Given the description of an element on the screen output the (x, y) to click on. 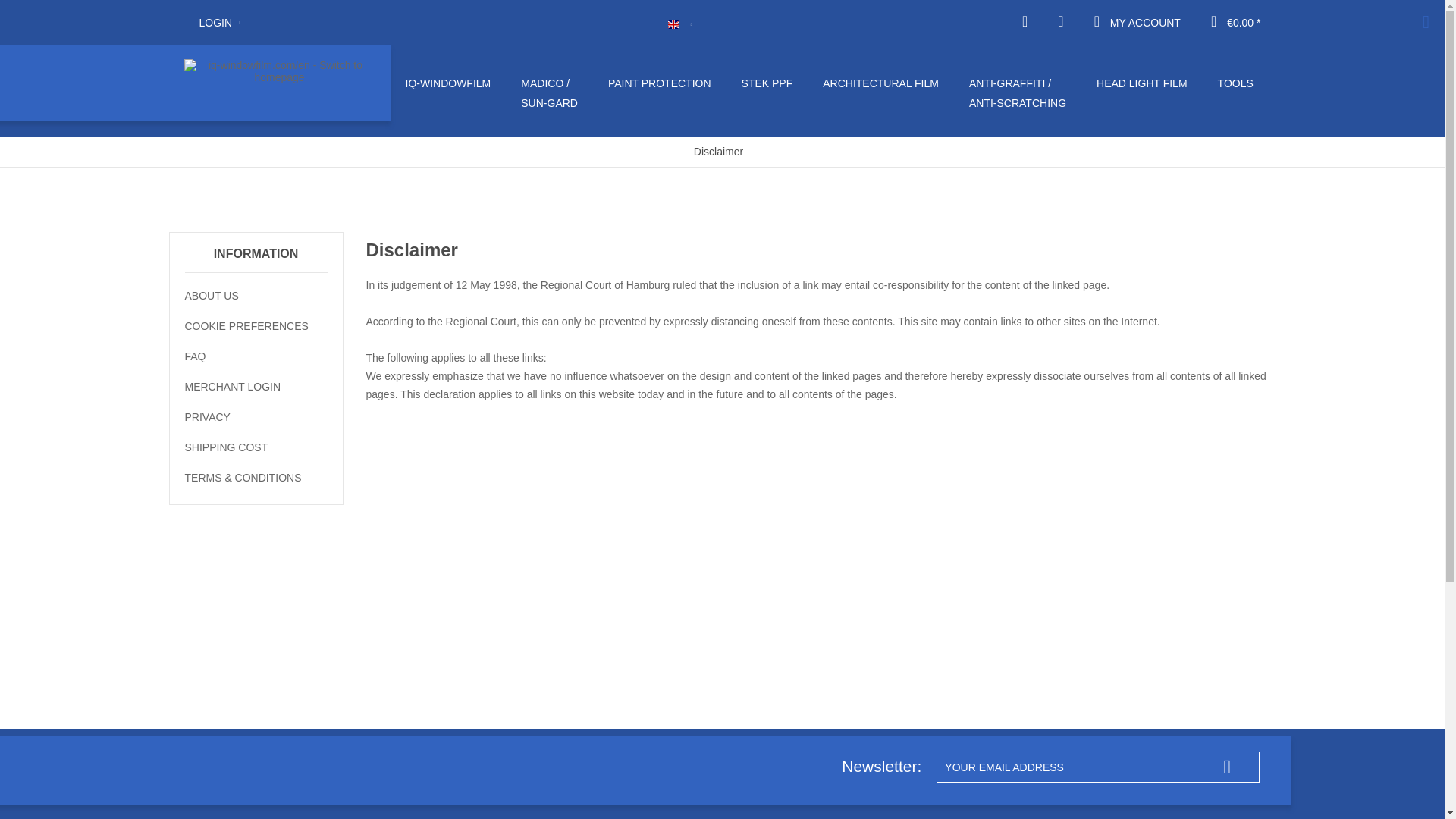
MY ACCOUNT (1137, 22)
My account (1137, 22)
PAINT PROTECTION (659, 83)
ARCHITECTURAL FILM (880, 83)
HEAD LIGHT FILM (1142, 83)
IQ-WINDOWFILM (447, 83)
Shopping cart (1235, 22)
